Given the description of an element on the screen output the (x, y) to click on. 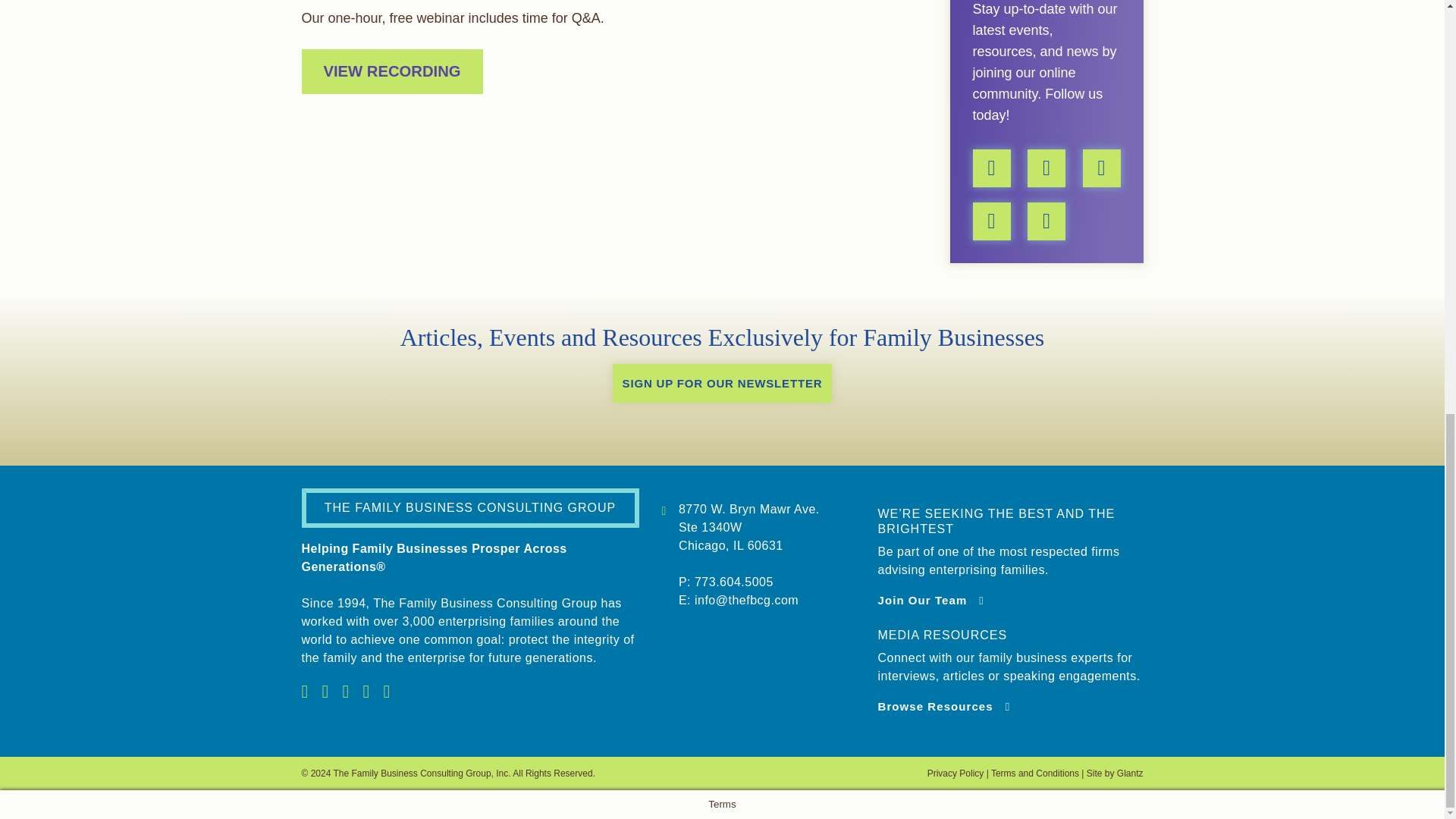
Follow us on LinkedIn (1102, 167)
Follow us on YouTube (1046, 167)
Follow us on Facebook (991, 220)
Follow us on Instagram (991, 167)
Follow us on X (1046, 220)
